Given the description of an element on the screen output the (x, y) to click on. 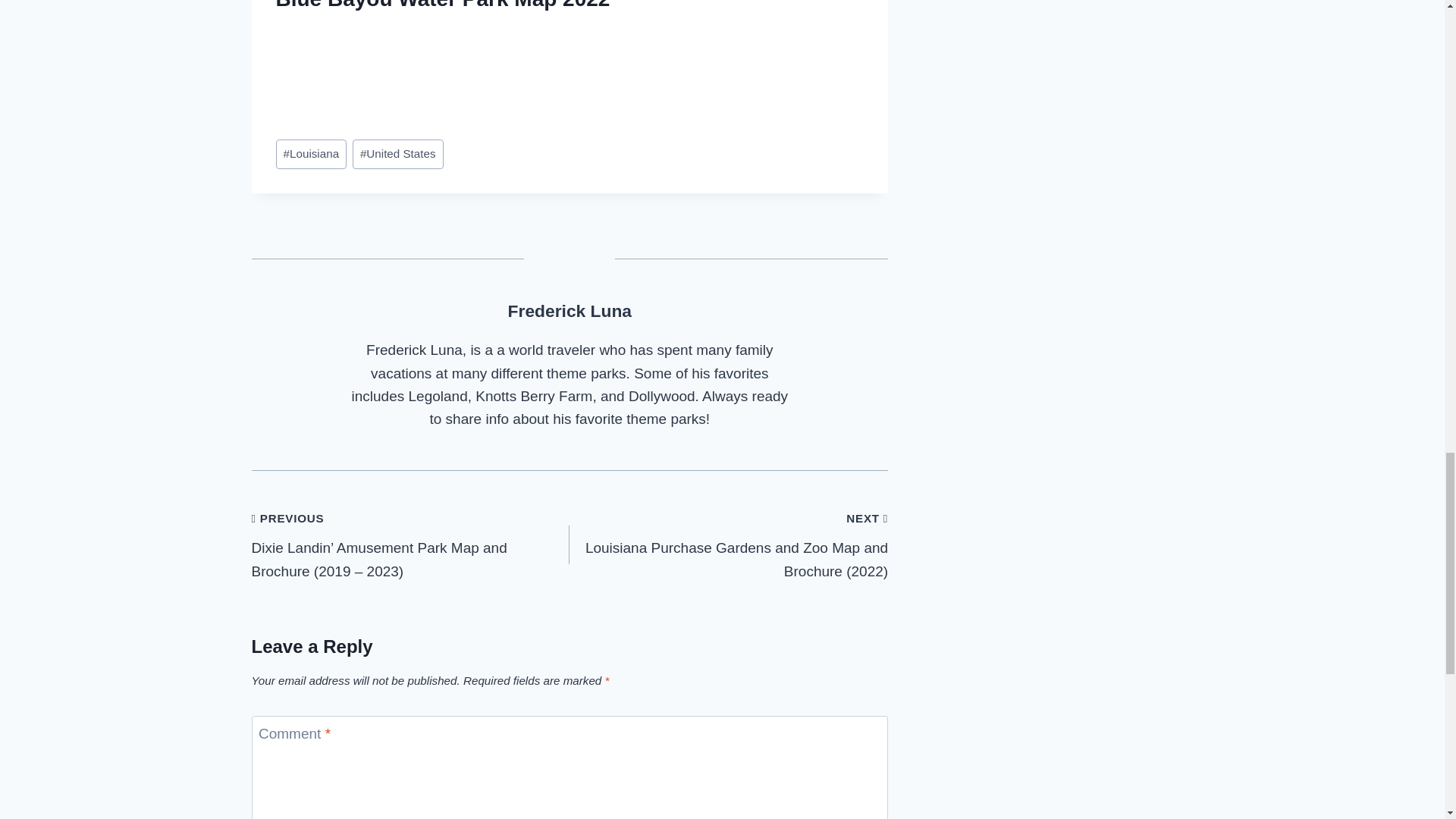
Frederick Luna (569, 311)
Louisiana (311, 153)
Posts by Frederick Luna (569, 311)
United States (398, 153)
